Given the description of an element on the screen output the (x, y) to click on. 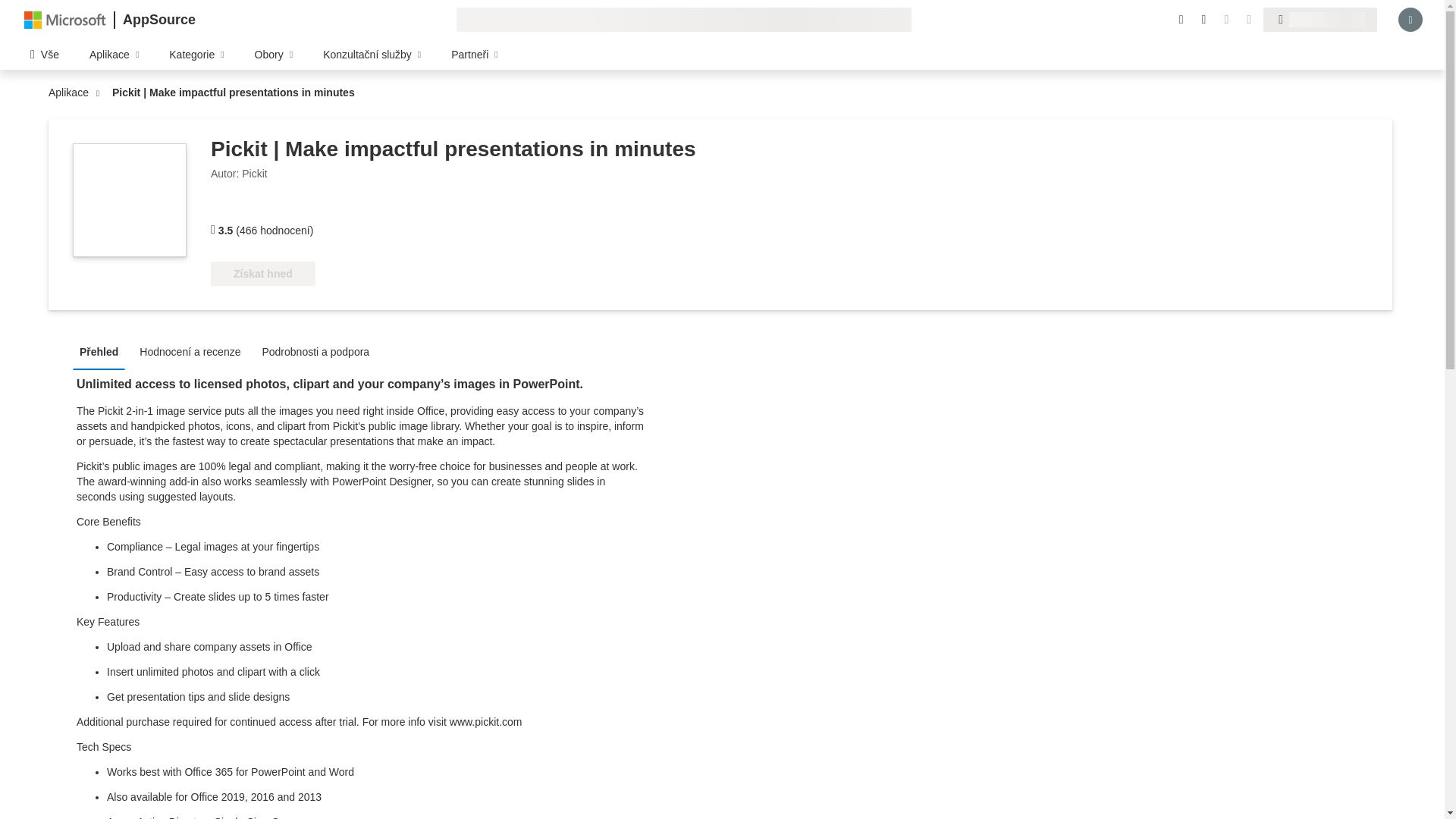
AppSource (158, 19)
Microsoft (65, 18)
Podrobnosti a podpora (319, 350)
Aplikace (72, 92)
Microsoft 365 App Award (278, 208)
